Given the description of an element on the screen output the (x, y) to click on. 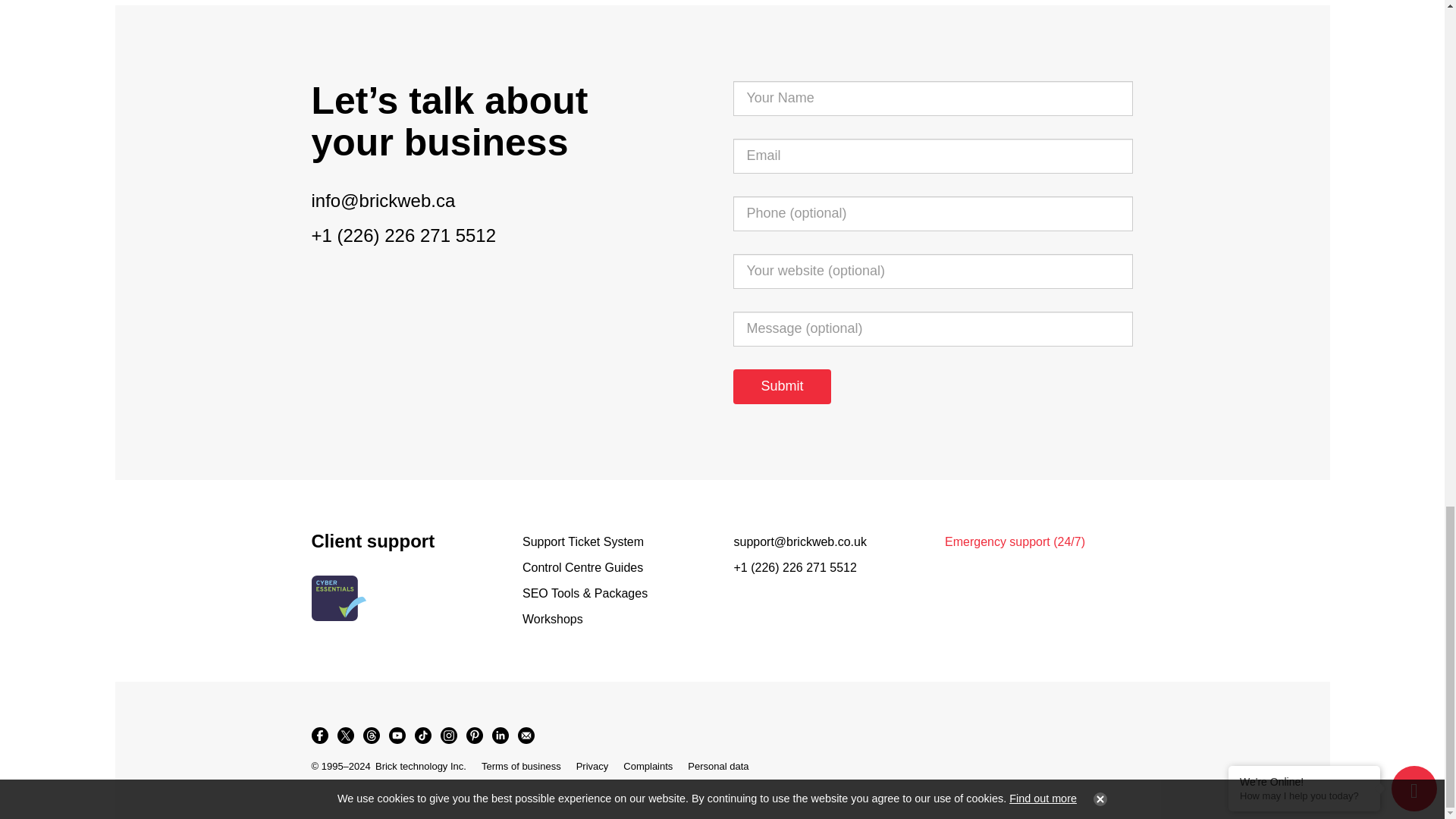
Facebook (318, 735)
Newsletter (525, 735)
LinkedIn (499, 735)
Pinterest (473, 735)
TikTok (422, 735)
Instagram (448, 735)
X (344, 735)
Submit (781, 386)
Threads (371, 735)
YouTube (396, 735)
Get a copy of your personal data or Erase my personal data (717, 766)
